Given the description of an element on the screen output the (x, y) to click on. 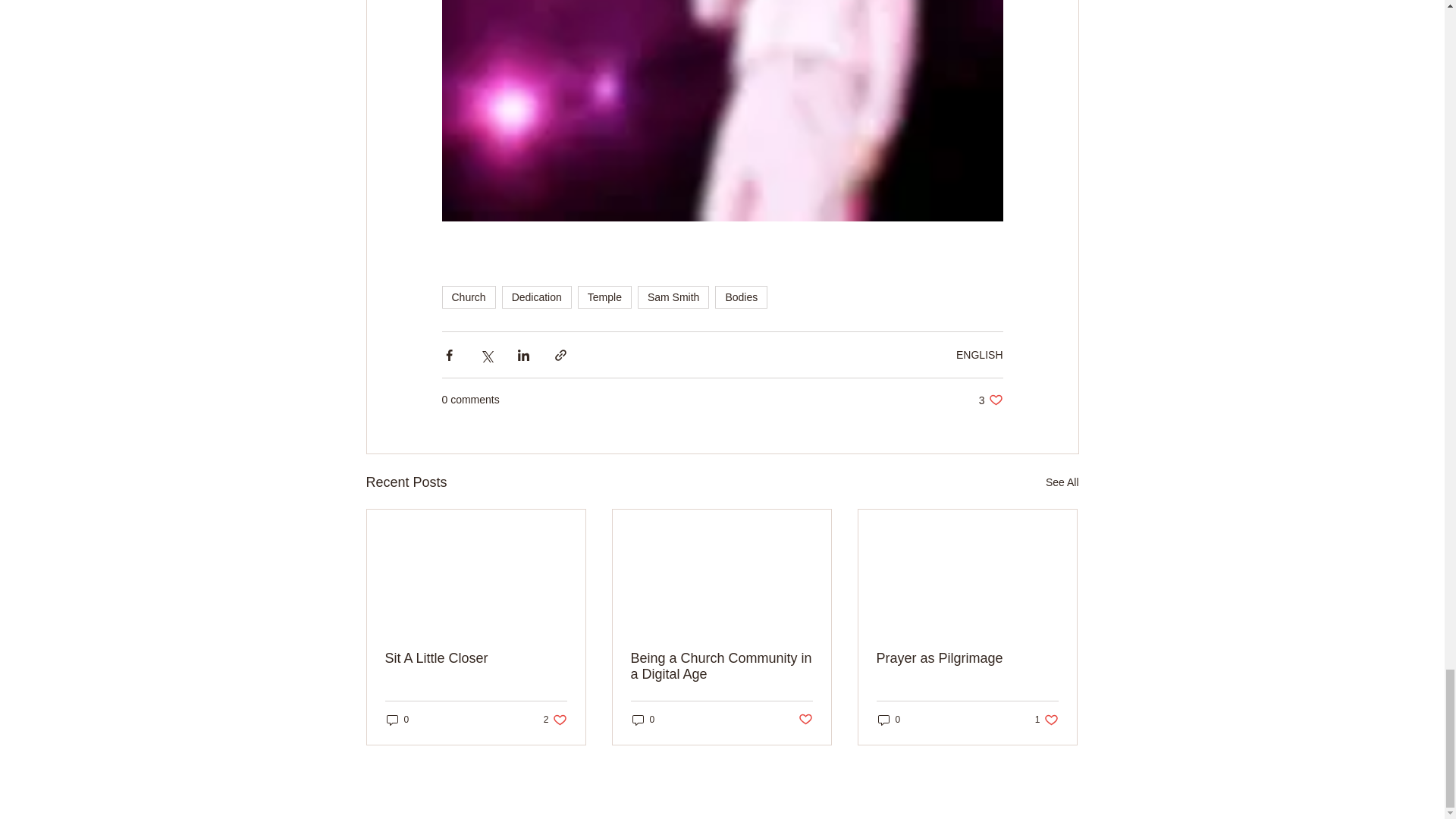
0 (889, 719)
0 (643, 719)
Church (468, 296)
Dedication (537, 296)
Sam Smith (673, 296)
See All (1061, 482)
ENGLISH (979, 354)
Post not marked as liked (804, 719)
Sit A Little Closer (476, 658)
Temple (604, 296)
Being a Church Community in a Digital Age (990, 400)
Bodies (721, 666)
Prayer as Pilgrimage (740, 296)
